Given the description of an element on the screen output the (x, y) to click on. 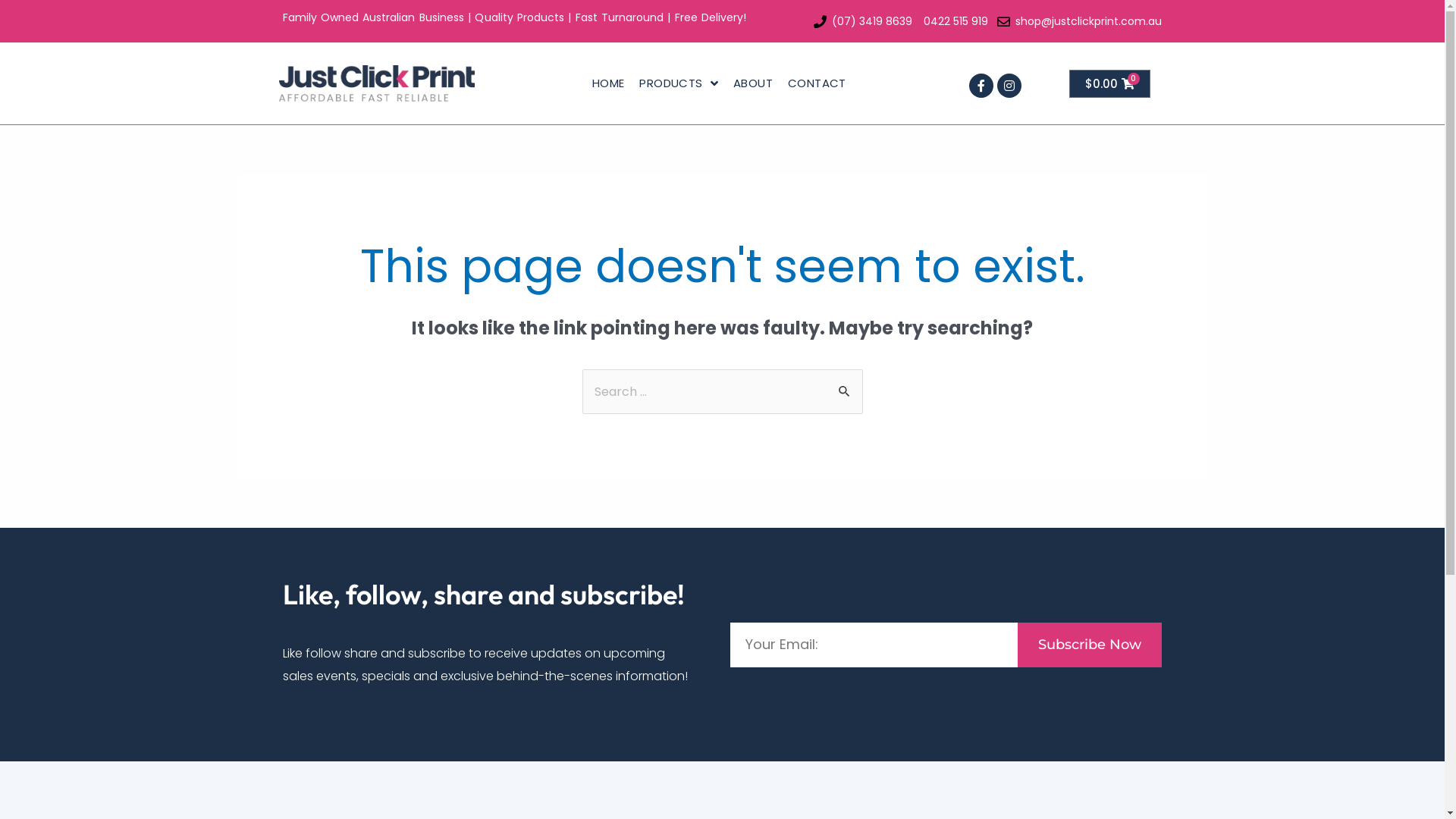
(07) 3419 8639 Element type: text (861, 21)
Subscribe Now Element type: text (1089, 644)
Instagram Element type: text (1009, 85)
Search Element type: text (845, 385)
$0.00
0
Cart Element type: text (1109, 83)
HOME Element type: text (608, 83)
ABOUT Element type: text (752, 83)
PRODUCTS Element type: text (678, 83)
CONTACT Element type: text (816, 83)
shop@justclickprint.com.au Element type: text (1077, 21)
0422 515 919 Element type: text (953, 21)
Facebook-f Element type: text (981, 85)
